Given the description of an element on the screen output the (x, y) to click on. 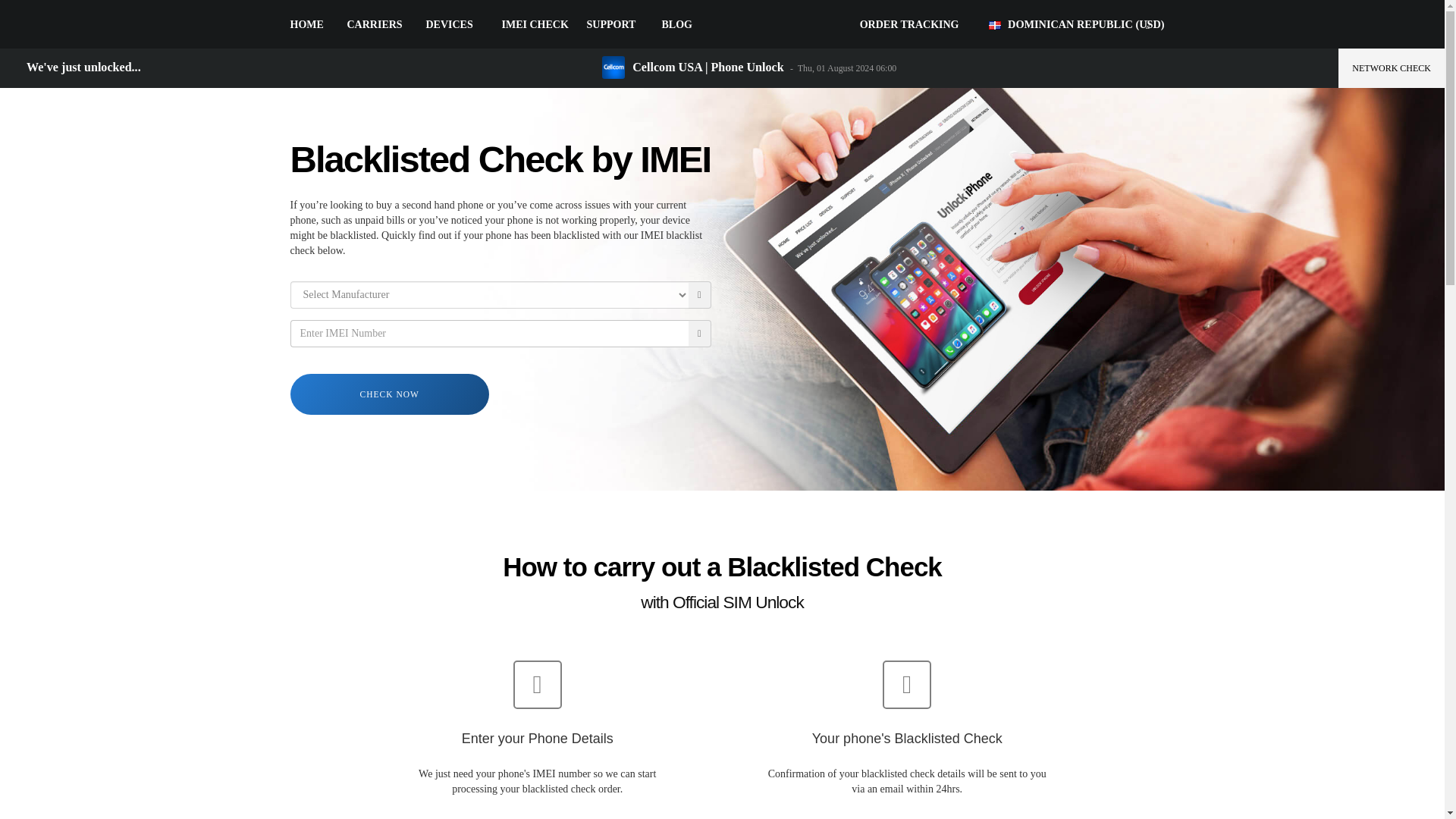
Support (611, 24)
Official SIM Unlock (722, 24)
IMEI Check (535, 24)
Order Tracking (909, 24)
Devices (449, 24)
CHECK NOW (389, 393)
IMEI CHECK (535, 24)
Official SIM Unlock (722, 24)
ORDER TRACKING (909, 24)
Carriers (375, 24)
CARRIERS (375, 24)
SUPPORT (611, 24)
DEVICES (449, 24)
